Given the description of an element on the screen output the (x, y) to click on. 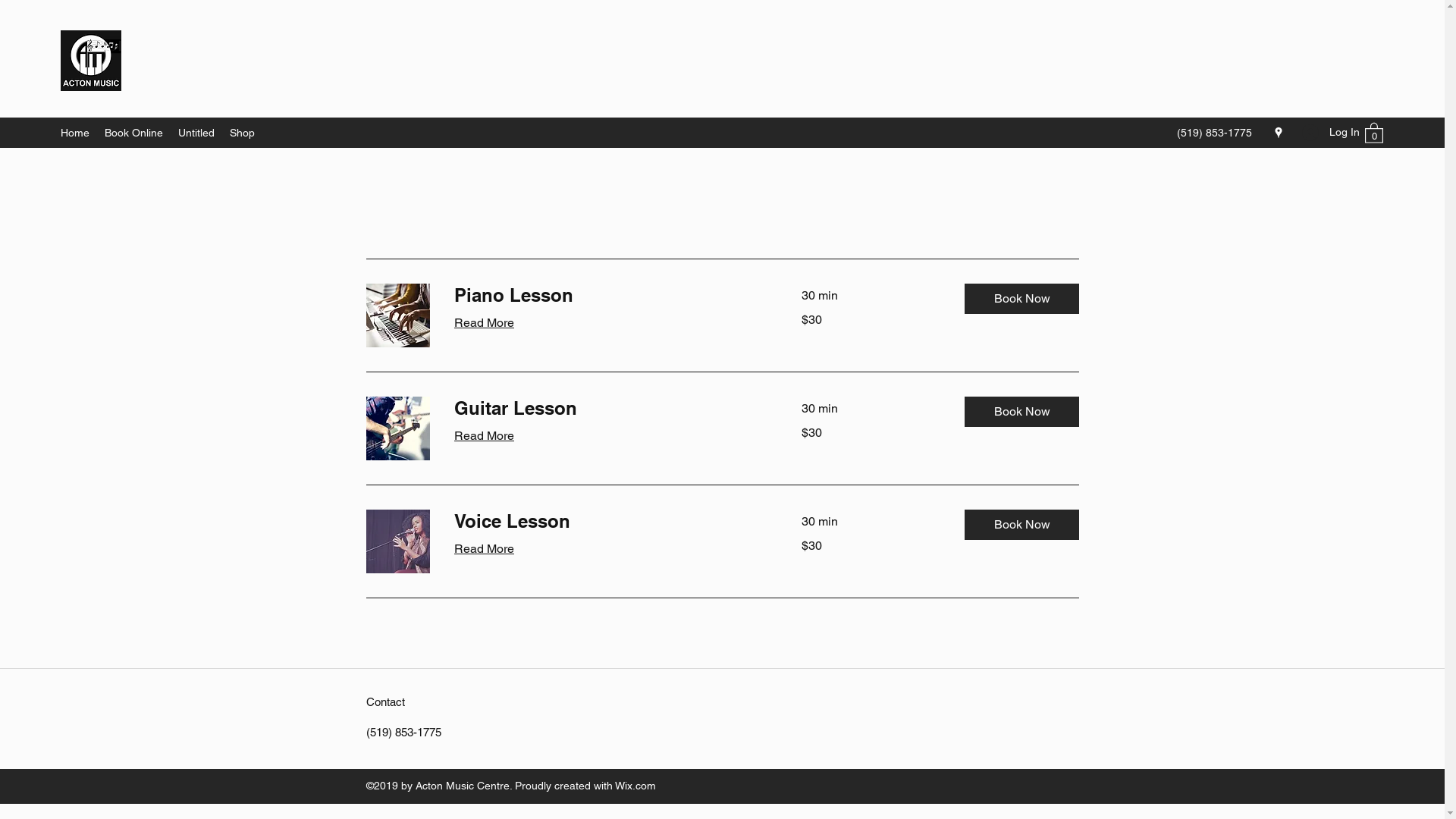
Log In Element type: text (1325, 132)
0 Element type: text (1374, 132)
Home Element type: text (75, 132)
Book Now Element type: text (1021, 298)
Shop Element type: text (242, 132)
Book Online Element type: text (133, 132)
Read More Element type: text (483, 322)
Guitar Lesson Element type: text (608, 408)
Book Now Element type: text (1021, 411)
Piano Lesson Element type: text (608, 295)
Voice Lesson Element type: text (608, 521)
Read More Element type: text (483, 435)
Book Now Element type: text (1021, 524)
Untitled Element type: text (196, 132)
Read More Element type: text (483, 548)
